Given the description of an element on the screen output the (x, y) to click on. 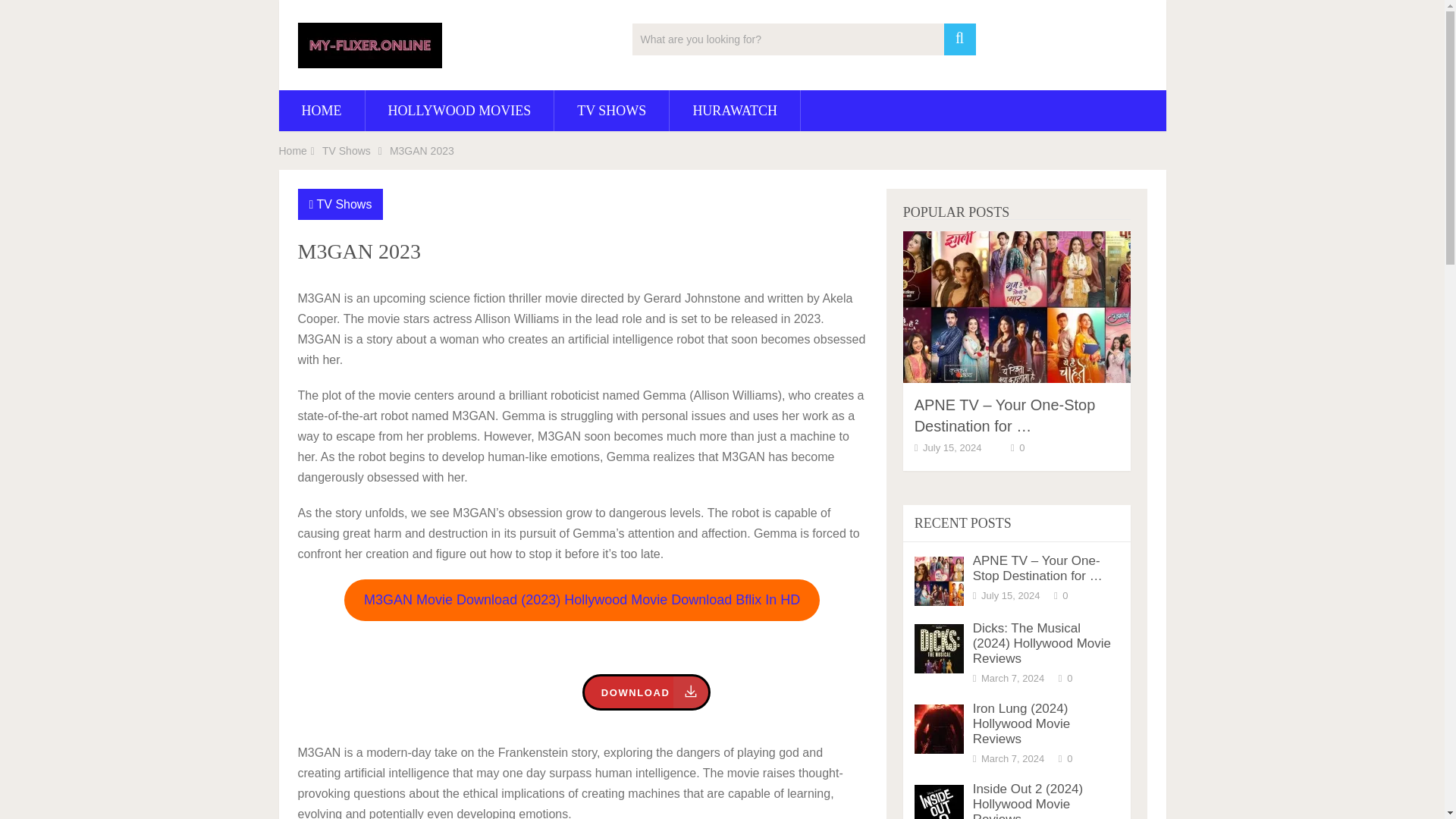
TV Shows (346, 150)
TV Shows (344, 204)
HURAWATCH (734, 110)
View all posts in TV Shows (344, 204)
HOLLYWOOD MOVIES (459, 110)
Download (646, 692)
TV SHOWS (611, 110)
HOME (322, 110)
DOWNLOAD (646, 692)
Home (293, 150)
